Given the description of an element on the screen output the (x, y) to click on. 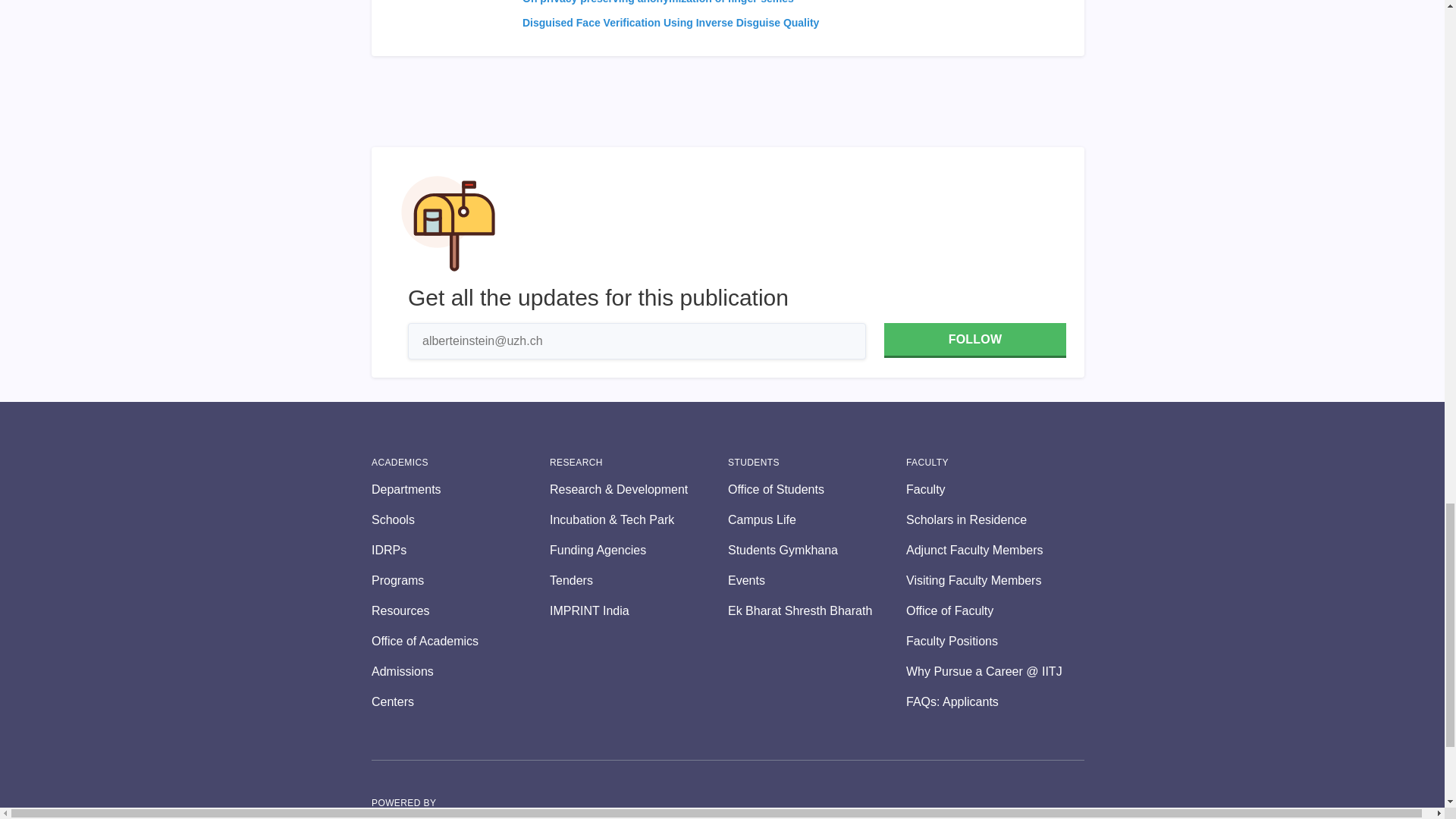
Programs (460, 580)
Disguised Face Verification Using Inverse Disguise Quality (670, 22)
Subscribe form hero illustration (448, 223)
Schools (460, 520)
On privacy preserving anonymization of finger-selfies (657, 2)
Office of Academics (460, 641)
FOLLOW (974, 339)
Departments (460, 489)
Admissions (460, 671)
Resources (460, 610)
IDRPs (460, 550)
